Given the description of an element on the screen output the (x, y) to click on. 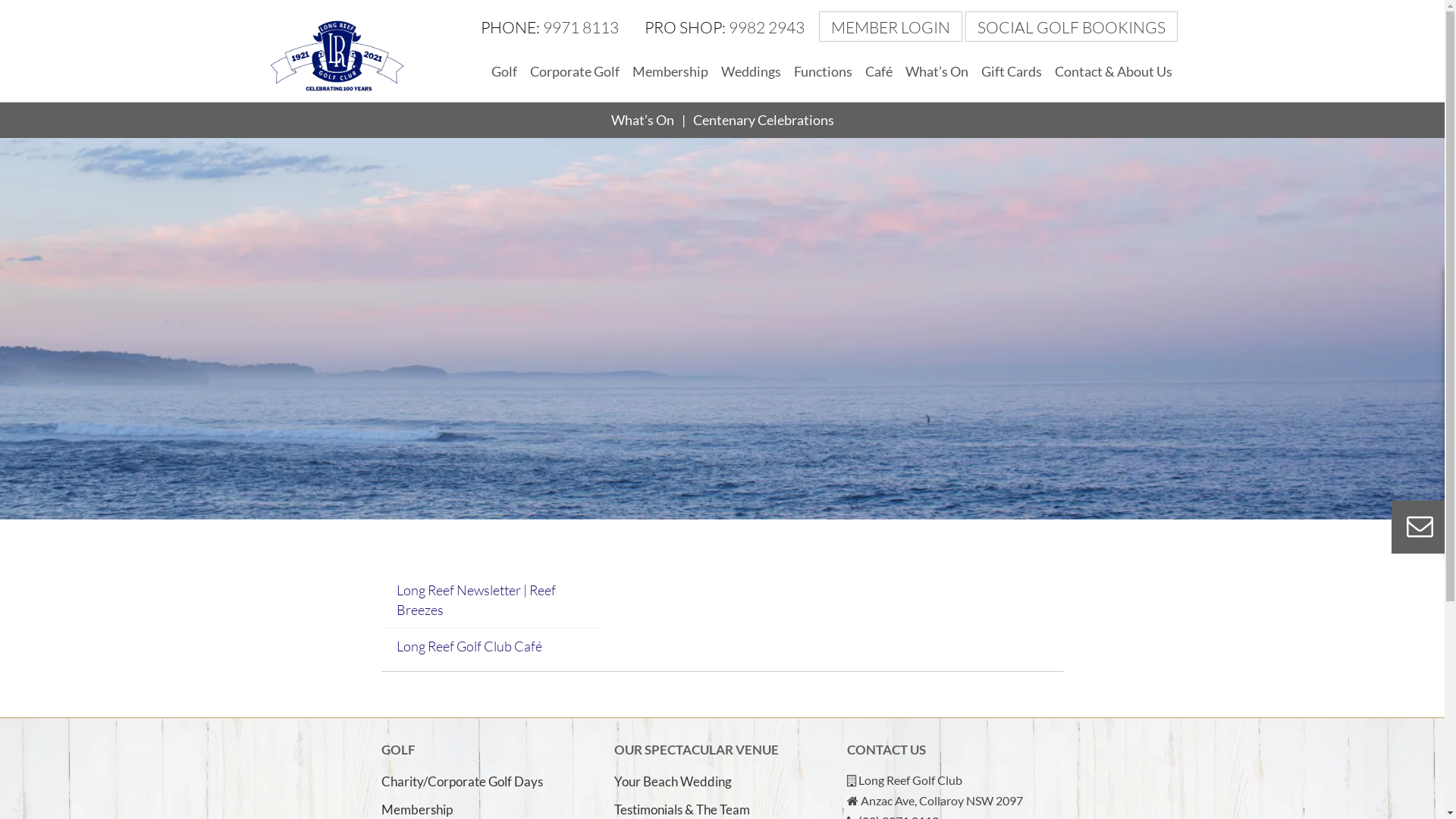
Charity/Corporate Golf Days Element type: text (461, 781)
Membership Element type: text (415, 809)
Contact & About Us Element type: text (1113, 71)
SOCIAL GOLF BOOKINGS Element type: text (1070, 27)
Testimonials & The Team Element type: text (681, 809)
Corporate Golf Element type: text (574, 71)
9971 8113 Element type: text (580, 27)
MEMBER LOGIN Element type: text (892, 27)
Long Reef Golf Club Element type: hover (334, 54)
Weddings Element type: text (750, 71)
Gift Cards Element type: text (1010, 71)
9982 2943 Element type: text (765, 27)
Golf Element type: text (503, 71)
Centenary Celebrations Element type: text (763, 120)
Long Reef Newsletter | Reef Breezes Element type: text (475, 599)
Functions Element type: text (822, 71)
Your Beach Wedding Element type: text (672, 781)
Membership Element type: text (669, 71)
